Given the description of an element on the screen output the (x, y) to click on. 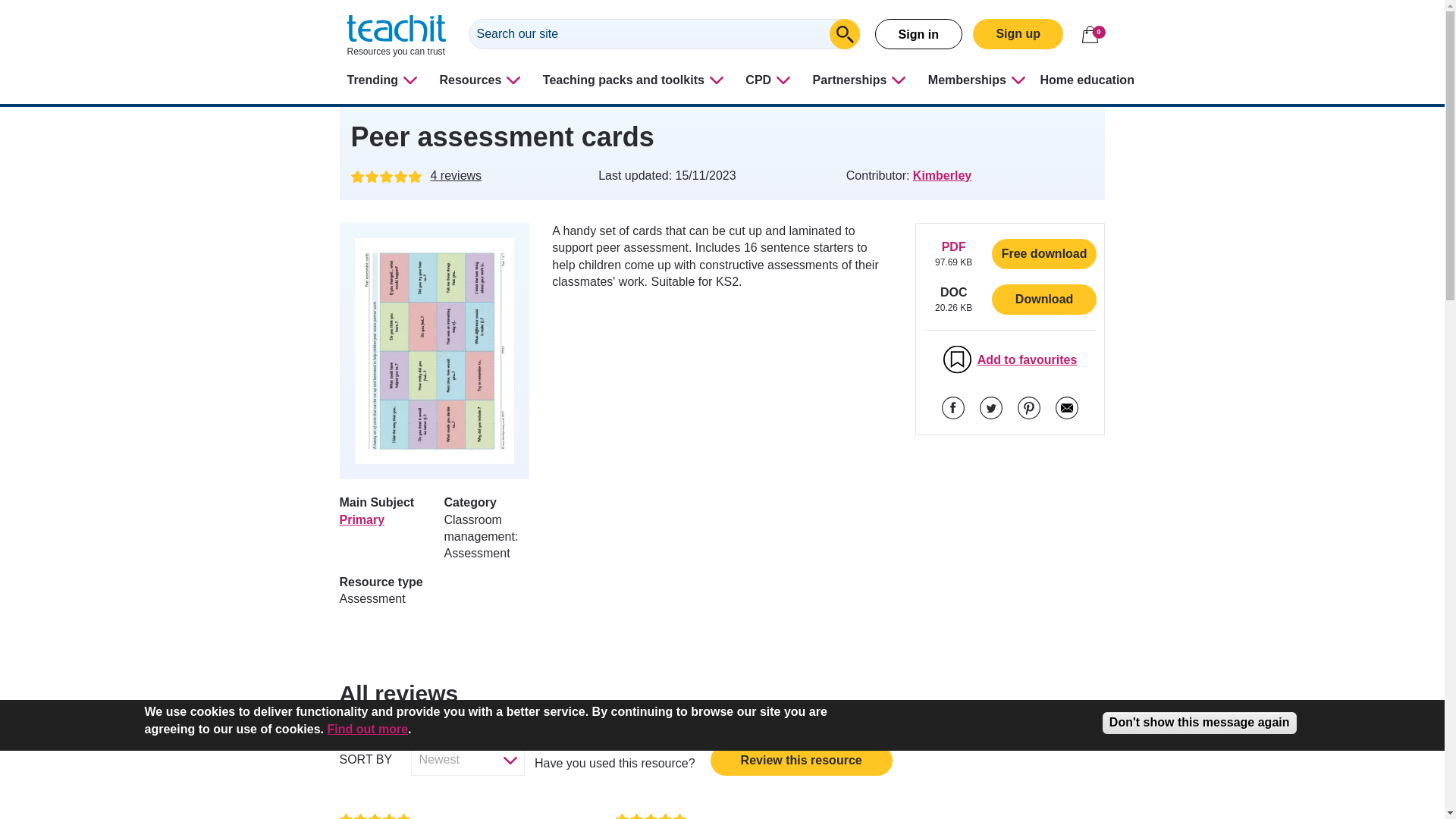
Submit (844, 33)
Partnerships (861, 80)
Enter the terms you wish to search for. (664, 33)
Sign in (918, 33)
Basket (1089, 34)
Submit (844, 33)
CPD (770, 80)
0 (1089, 34)
Home (396, 36)
Trending (384, 80)
Resources you can trust (396, 36)
Sign up (1017, 33)
Teaching packs and toolkits (635, 80)
Resources (482, 80)
